Given the description of an element on the screen output the (x, y) to click on. 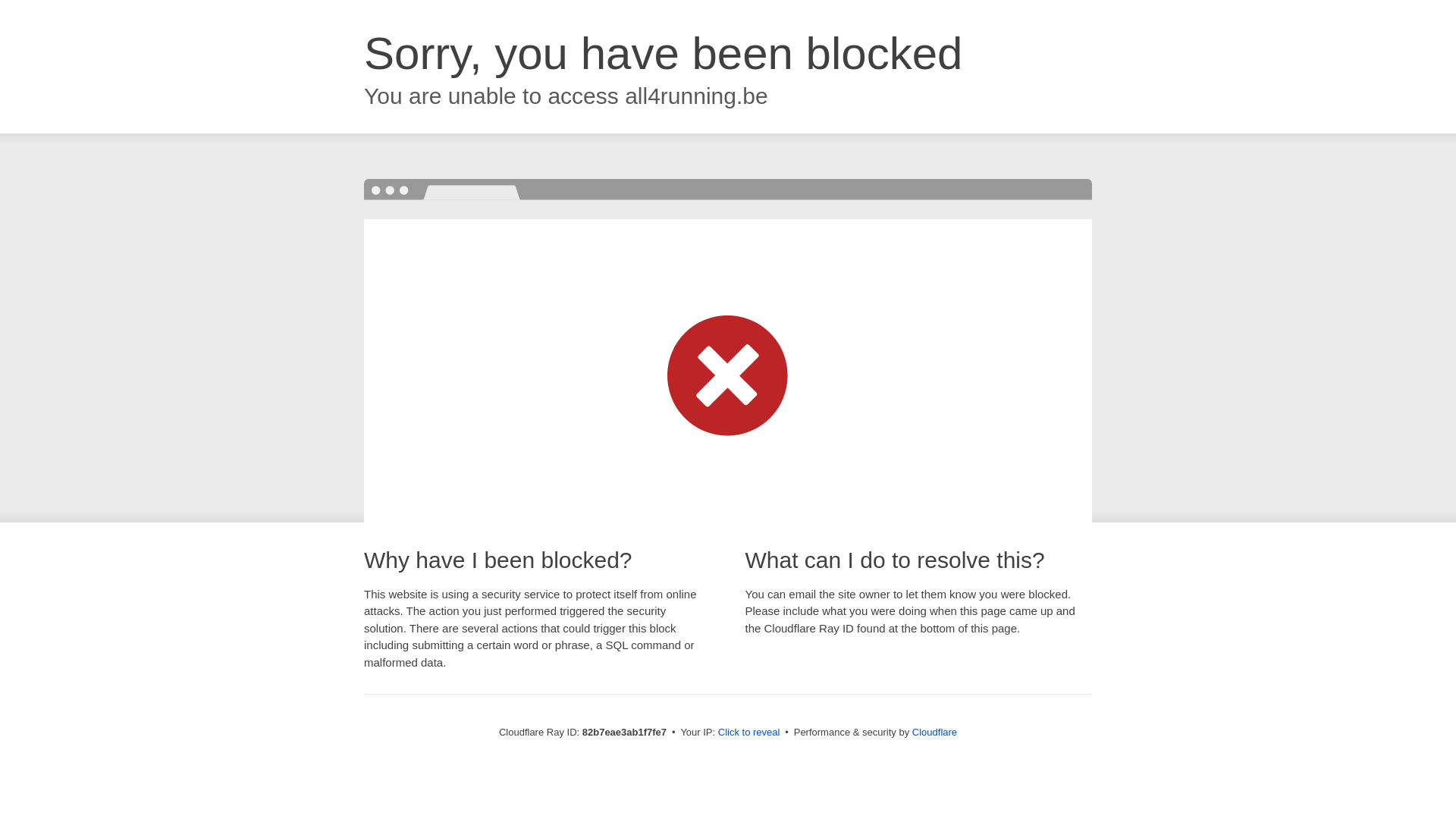
Cloudflare Element type: text (934, 731)
Click to reveal Element type: text (749, 732)
